Given the description of an element on the screen output the (x, y) to click on. 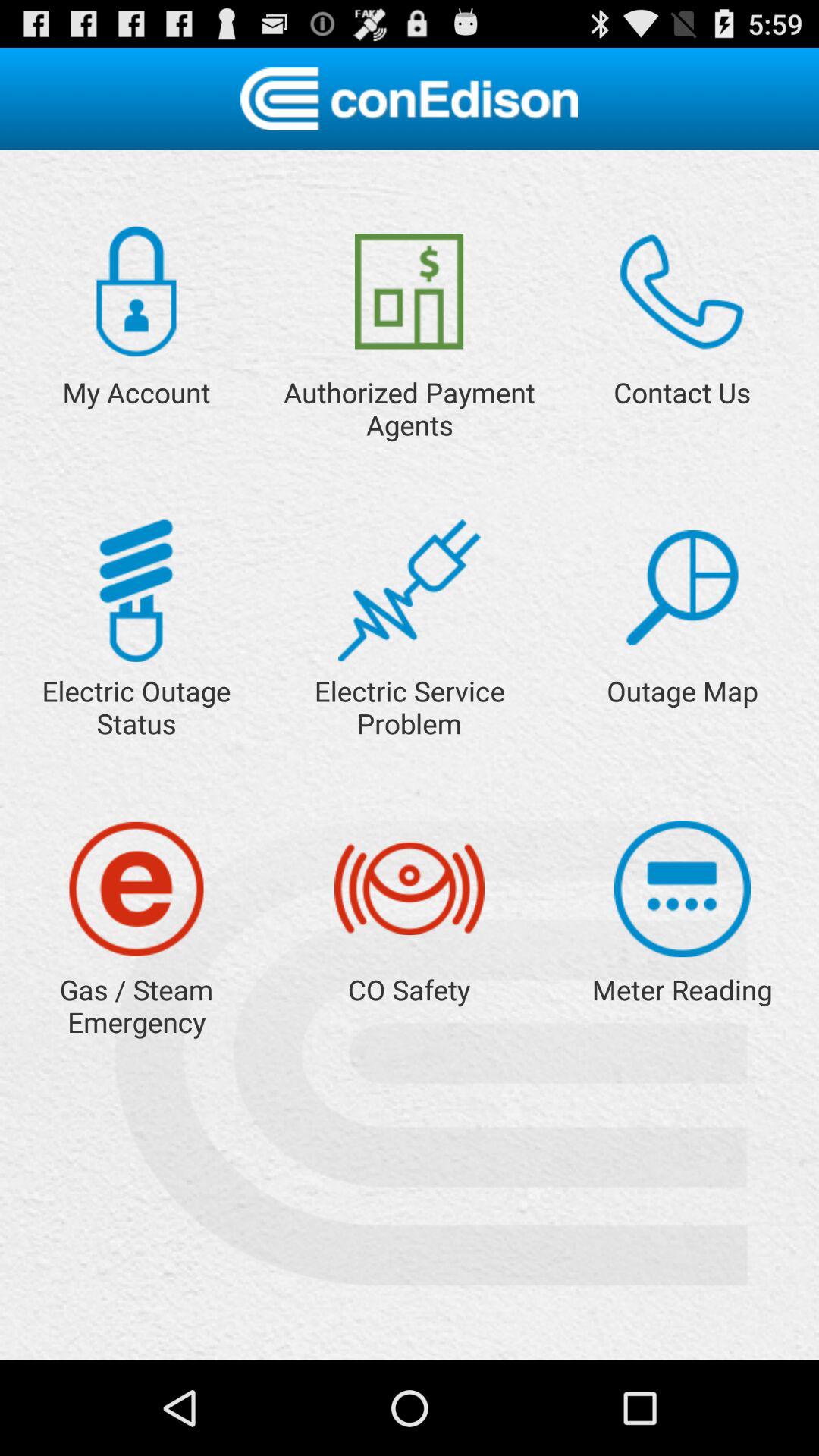
open link (409, 590)
